Given the description of an element on the screen output the (x, y) to click on. 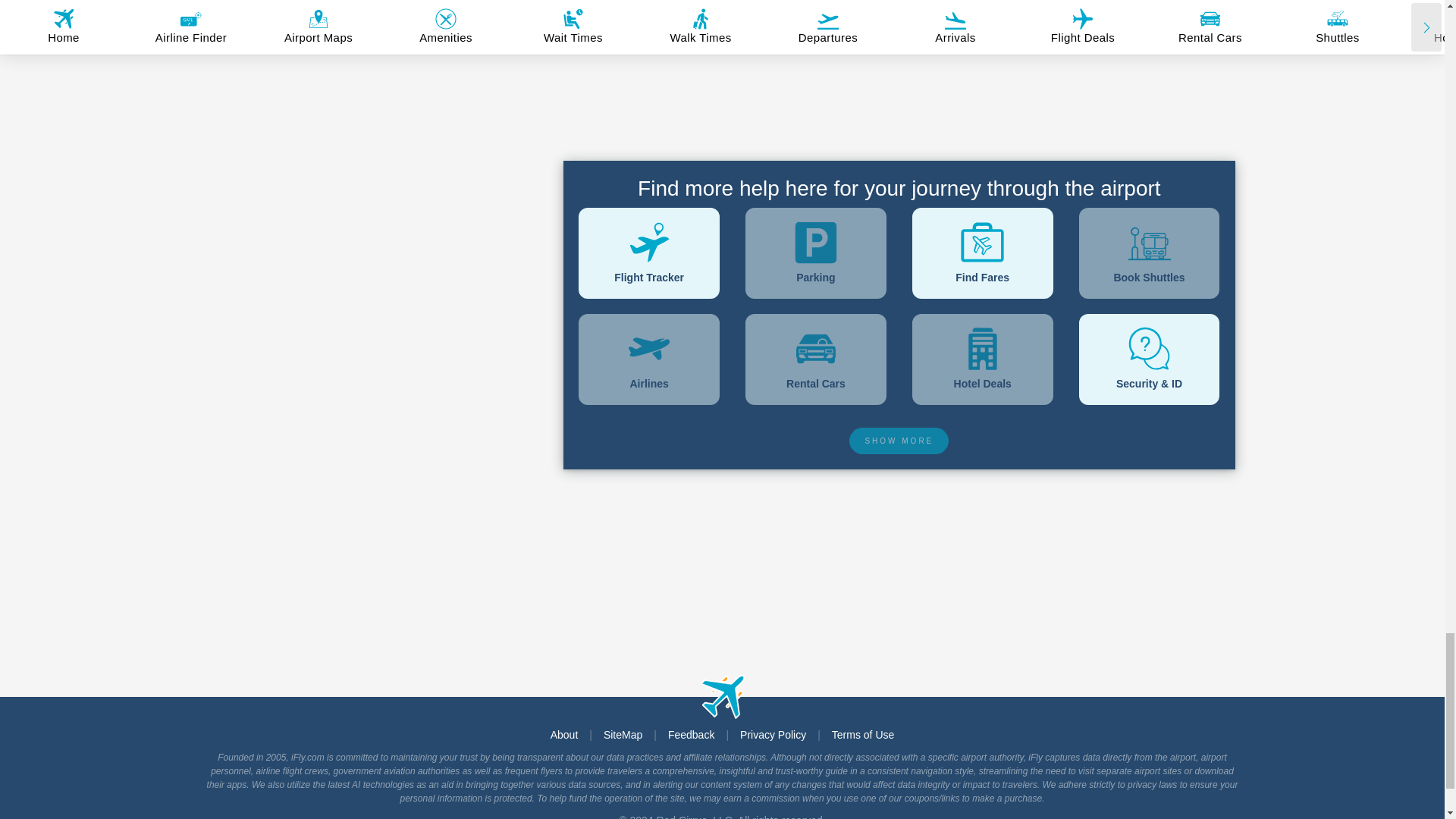
show more (898, 440)
